Given the description of an element on the screen output the (x, y) to click on. 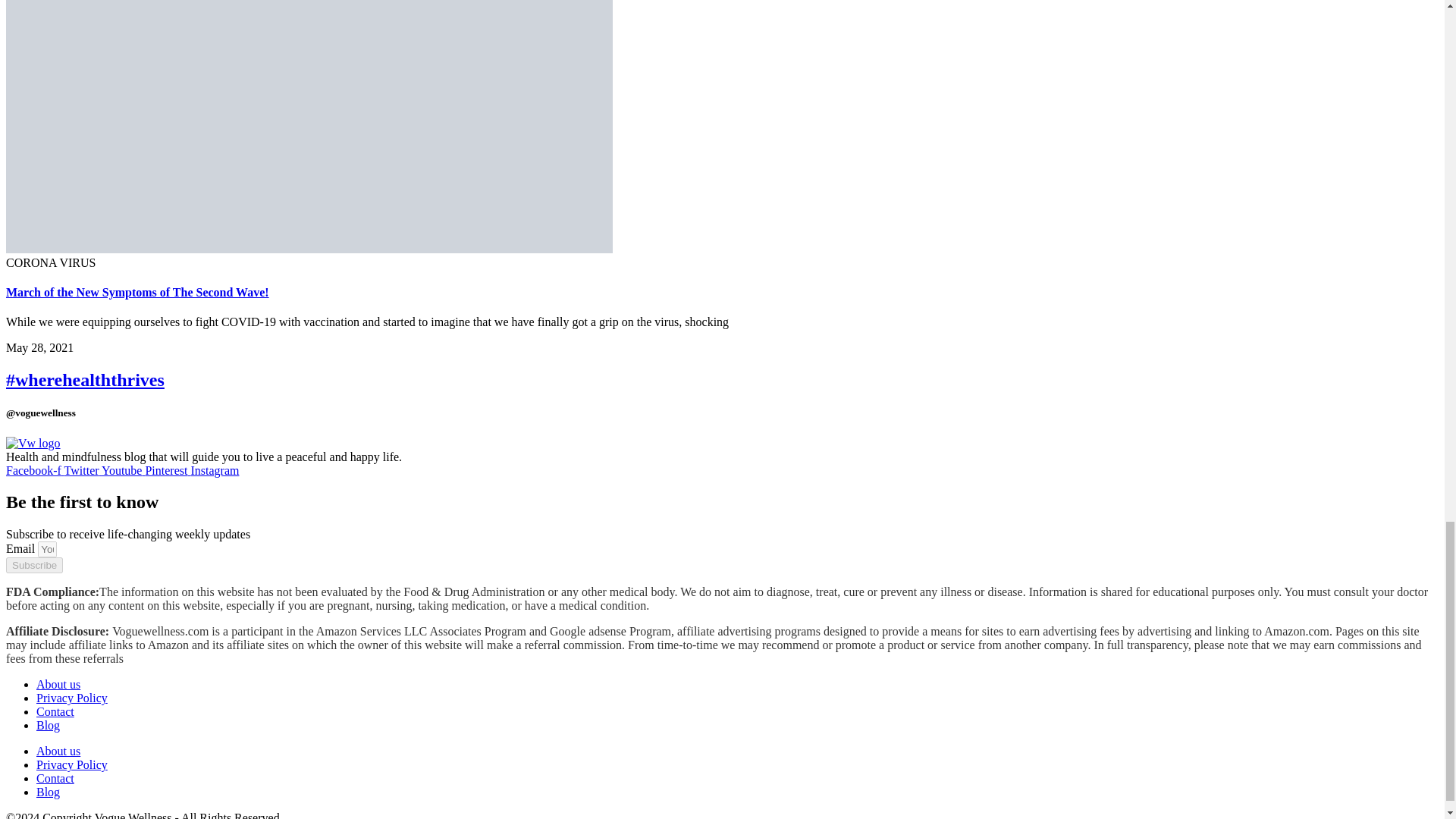
Blog (47, 725)
Twitter (82, 470)
Subscribe (33, 565)
Instagram (214, 470)
March of the New Symptoms of The Second Wave! (137, 291)
About us (58, 684)
About us (58, 750)
Facebook-f (34, 470)
Privacy Policy (71, 697)
Contact (55, 711)
Youtube (123, 470)
Pinterest (167, 470)
